Given the description of an element on the screen output the (x, y) to click on. 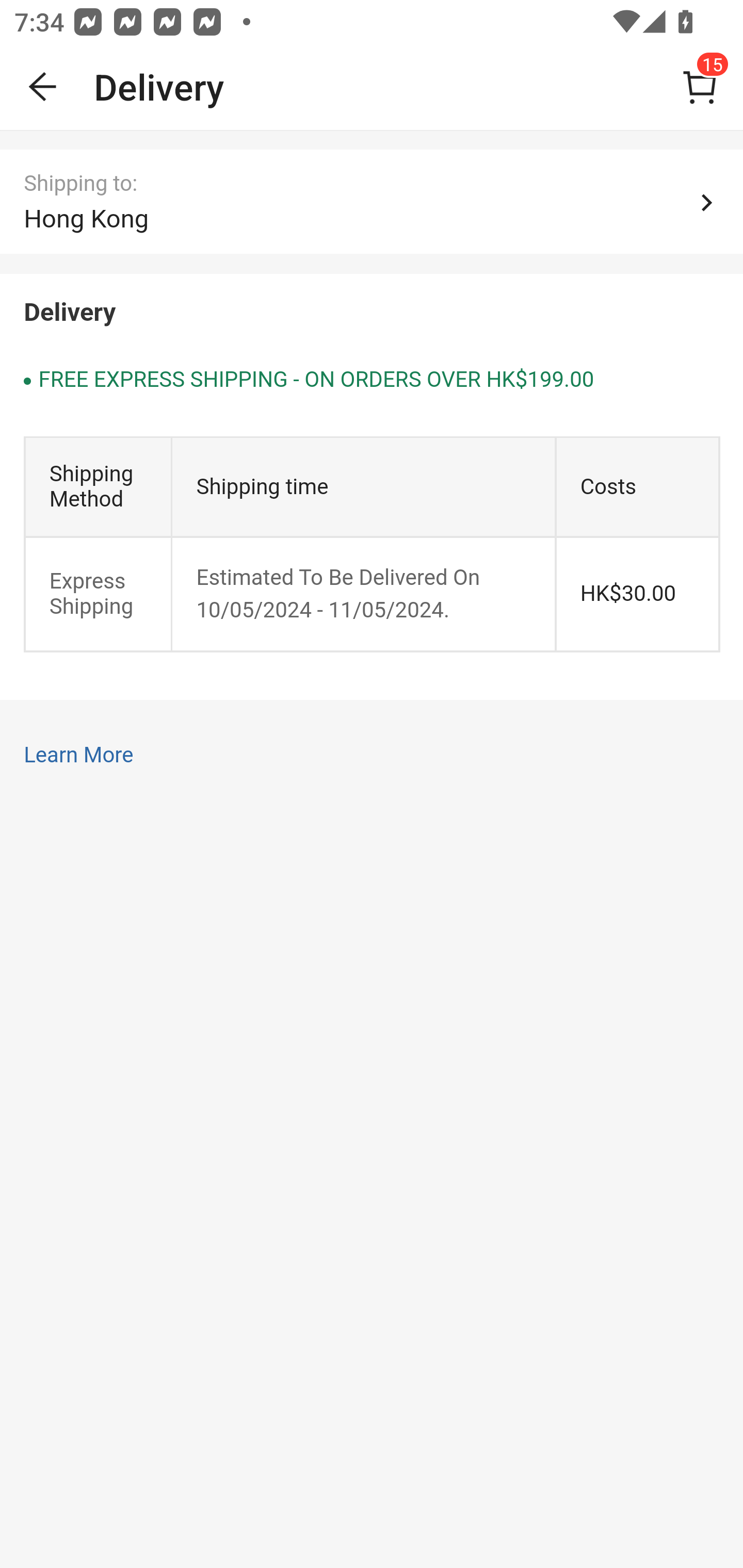
BACK (43, 86)
Cart 15 (699, 86)
